Given the description of an element on the screen output the (x, y) to click on. 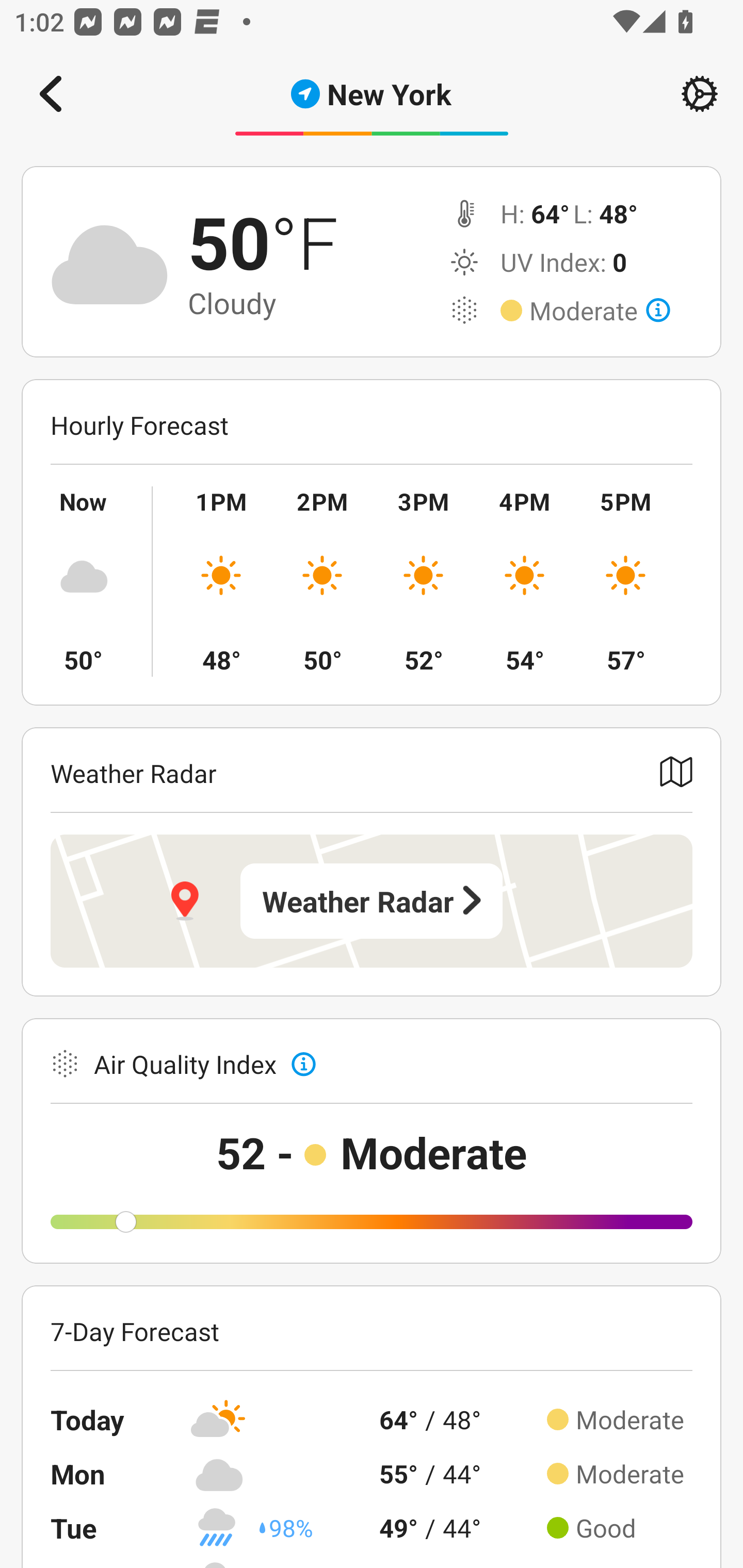
Navigate up (50, 93)
Setting (699, 93)
Moderate (599, 310)
Weather Radar (371, 900)
